Given the description of an element on the screen output the (x, y) to click on. 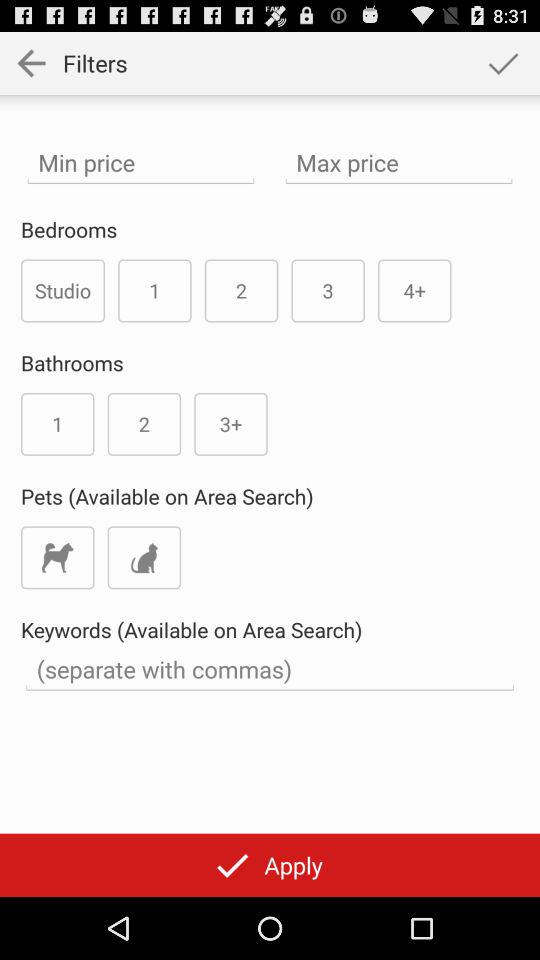
choose dog (57, 557)
